Given the description of an element on the screen output the (x, y) to click on. 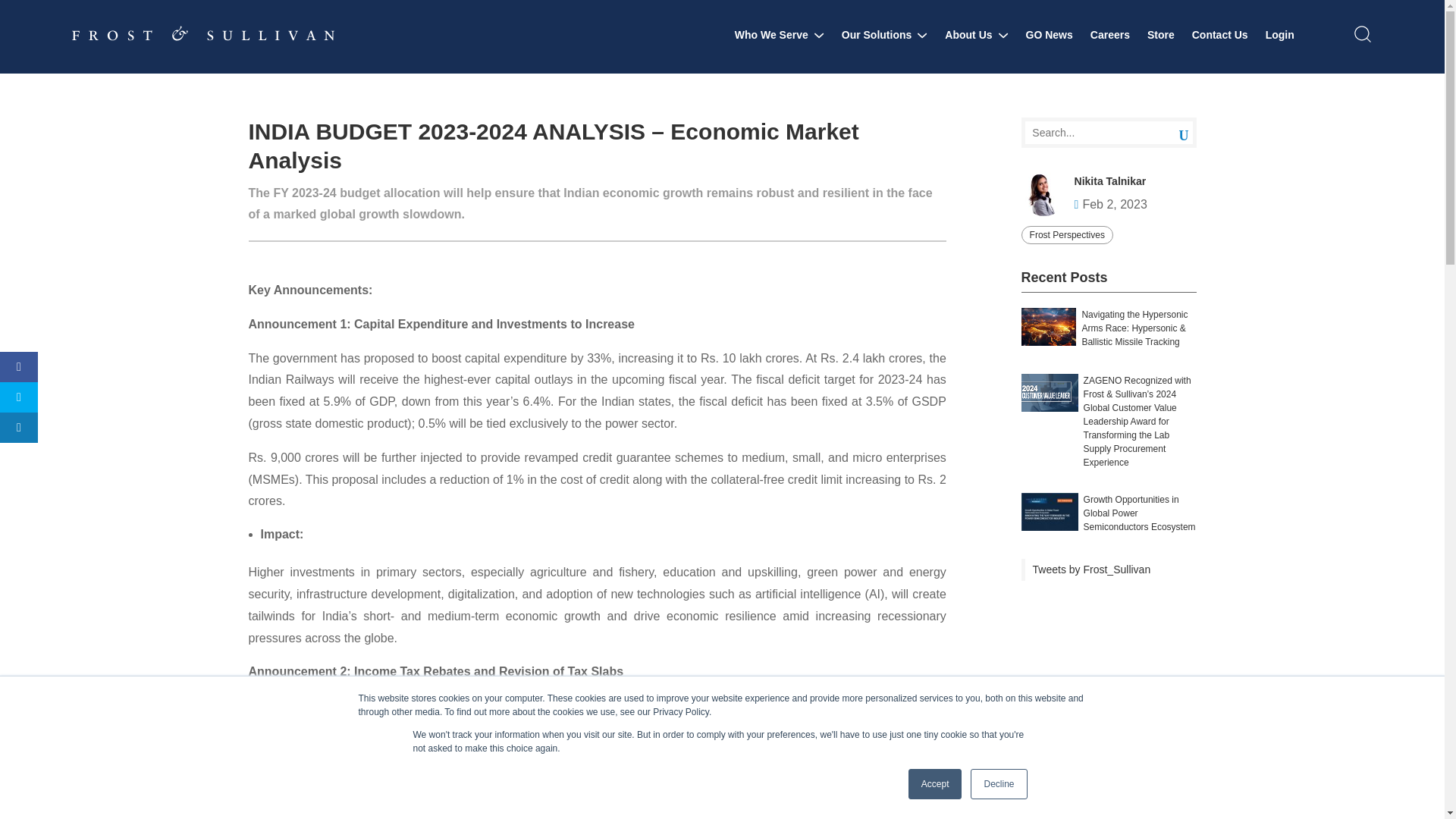
Search (1172, 132)
Who We Serve (779, 35)
Decline (998, 784)
Accept (935, 784)
